Given the description of an element on the screen output the (x, y) to click on. 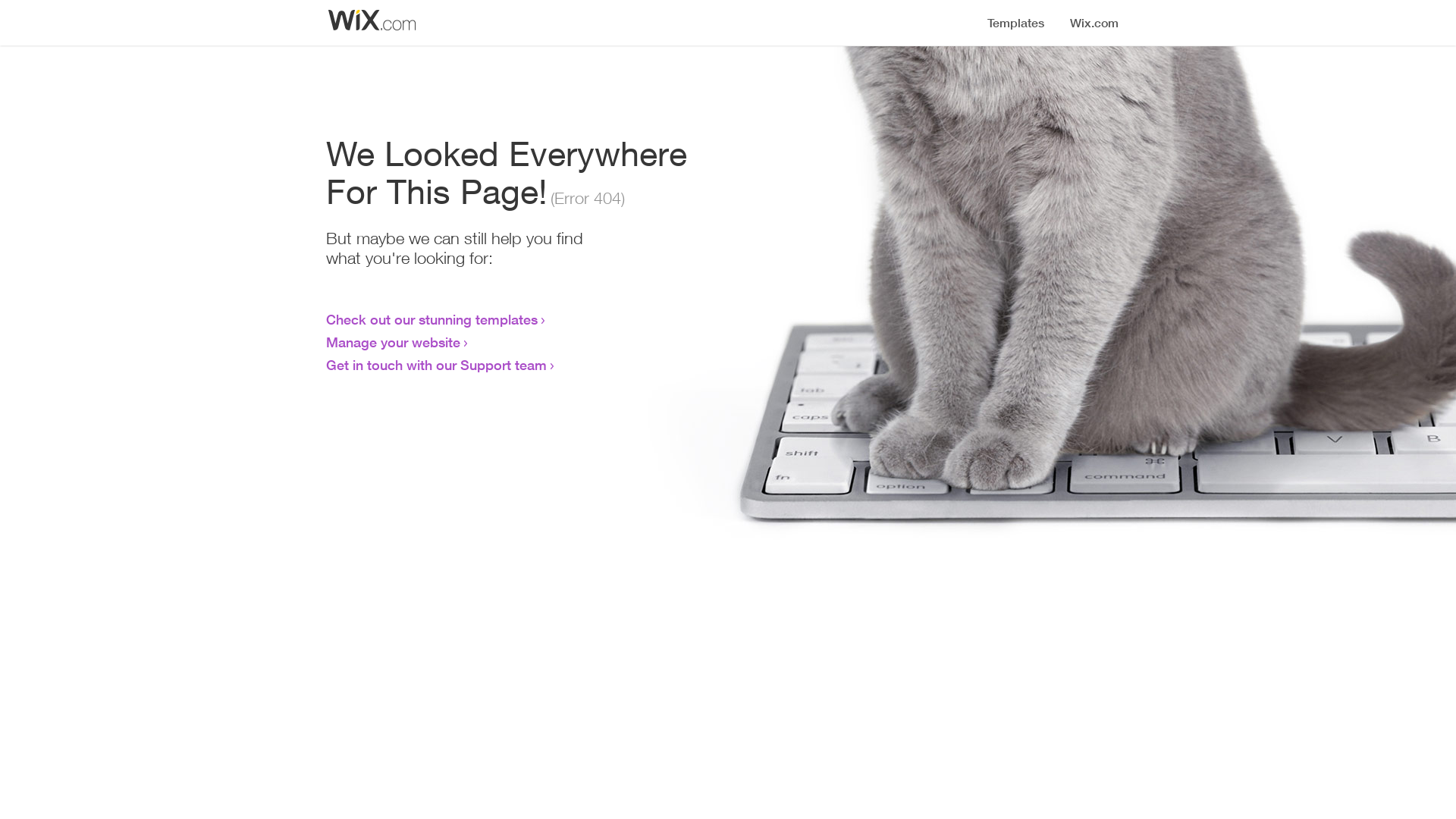
Get in touch with our Support team Element type: text (436, 364)
Manage your website Element type: text (393, 341)
Check out our stunning templates Element type: text (431, 318)
